Given the description of an element on the screen output the (x, y) to click on. 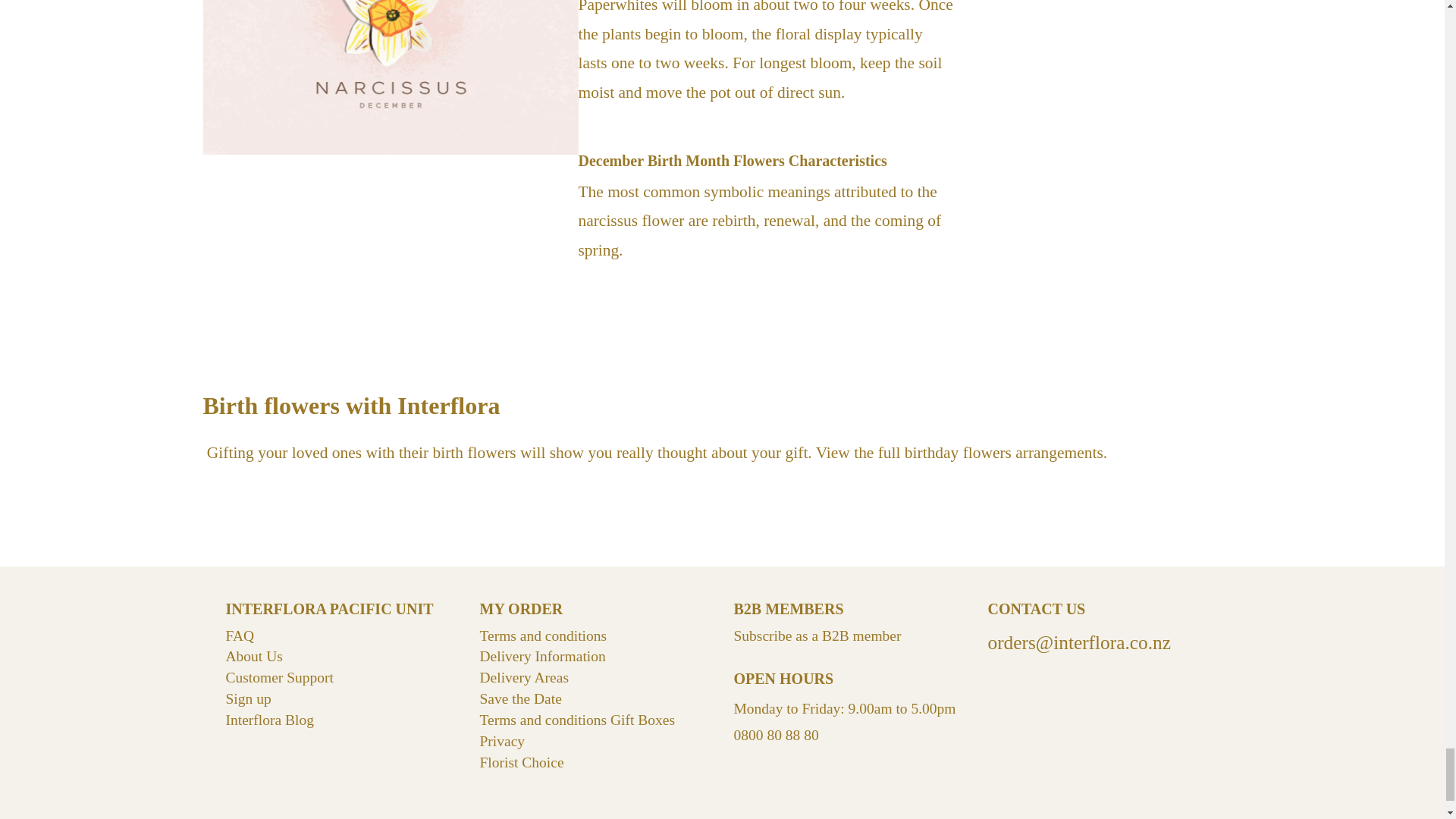
Customer Support (279, 677)
Sign up (247, 698)
FAQ (239, 635)
Save the Date (519, 698)
Delivery Areas (524, 677)
Terms and conditions Gift Boxes (577, 719)
Terms and conditions (543, 635)
Birthday Flowers (1003, 452)
birthday flowers arrangements (1003, 452)
Interflora Blog (269, 719)
About Us (253, 656)
Delivery Information (542, 656)
